Given the description of an element on the screen output the (x, y) to click on. 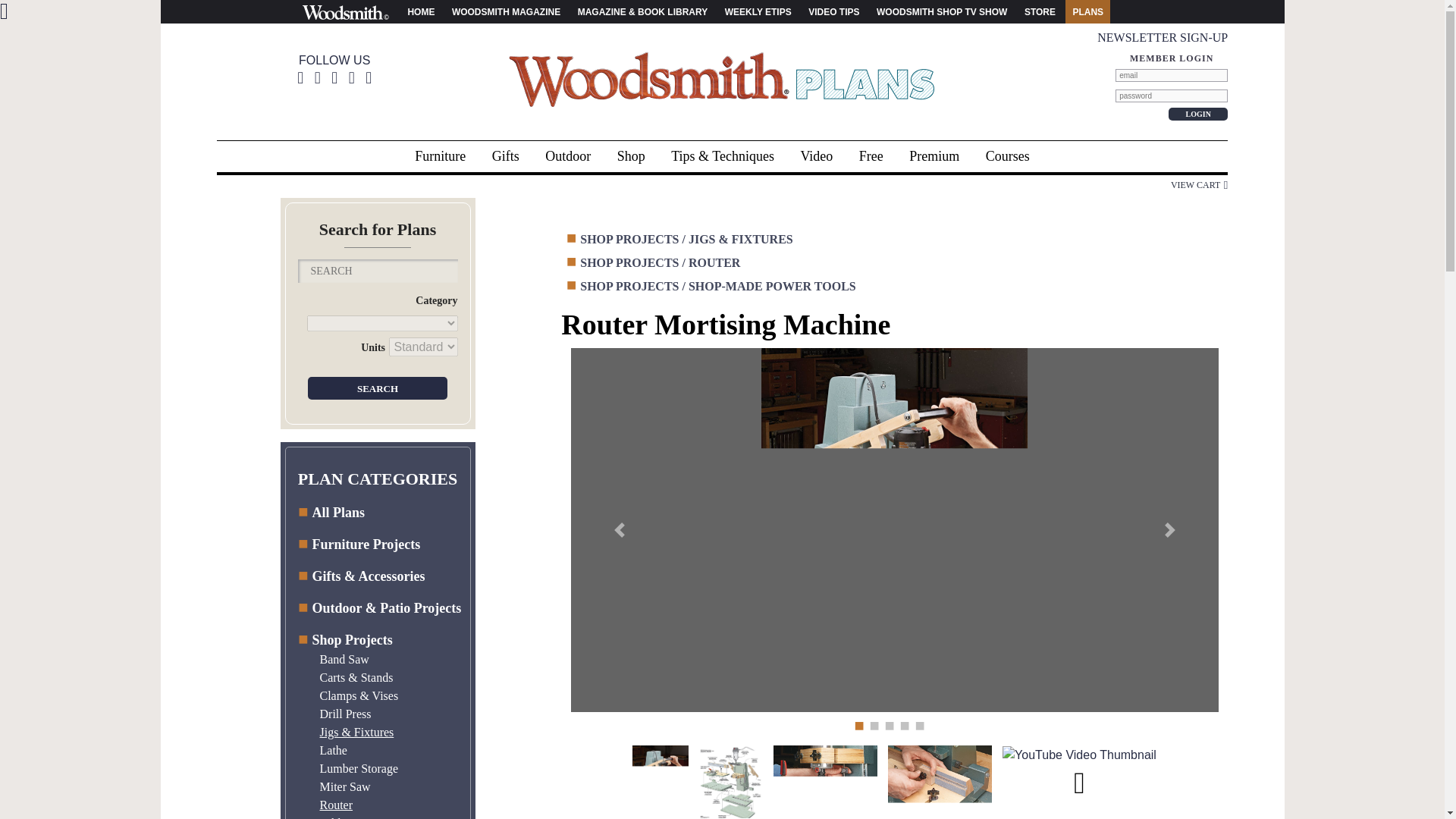
LOGIN (1198, 113)
HOME (420, 11)
WEEKLY ETIPS (758, 11)
WOODSMITH MAGAZINE (505, 11)
Free (871, 155)
PLANS (1087, 11)
WOODSMITH SHOP TV SHOW (941, 11)
Courses (1007, 155)
NEWSLETTER SIGN-UP (1162, 37)
Email (1171, 74)
